Given the description of an element on the screen output the (x, y) to click on. 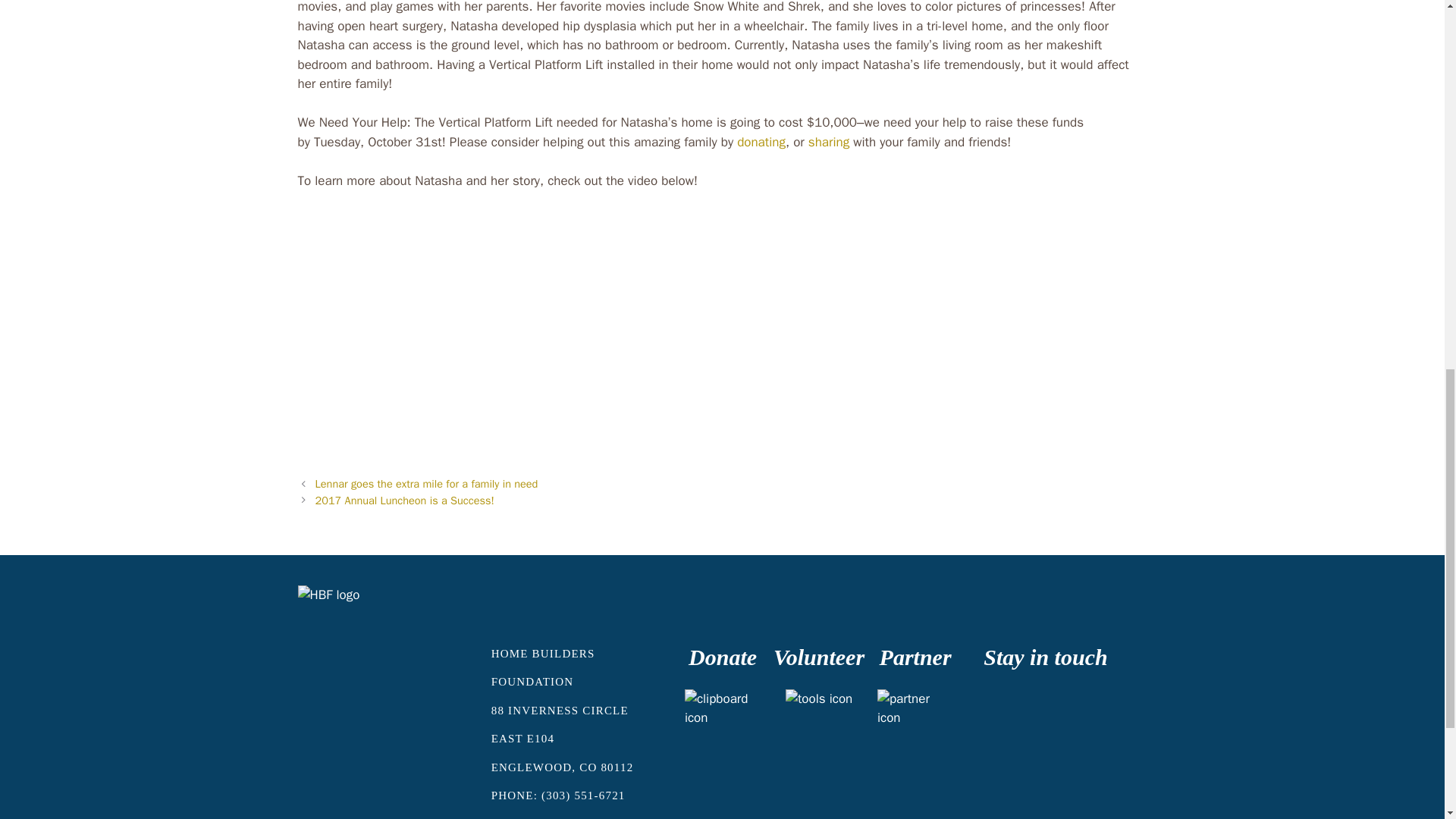
sharing  (830, 141)
Lennar goes the extra mile for a family in need (426, 483)
2017 Annual Luncheon is a Success! (405, 499)
donating (761, 141)
